Given the description of an element on the screen output the (x, y) to click on. 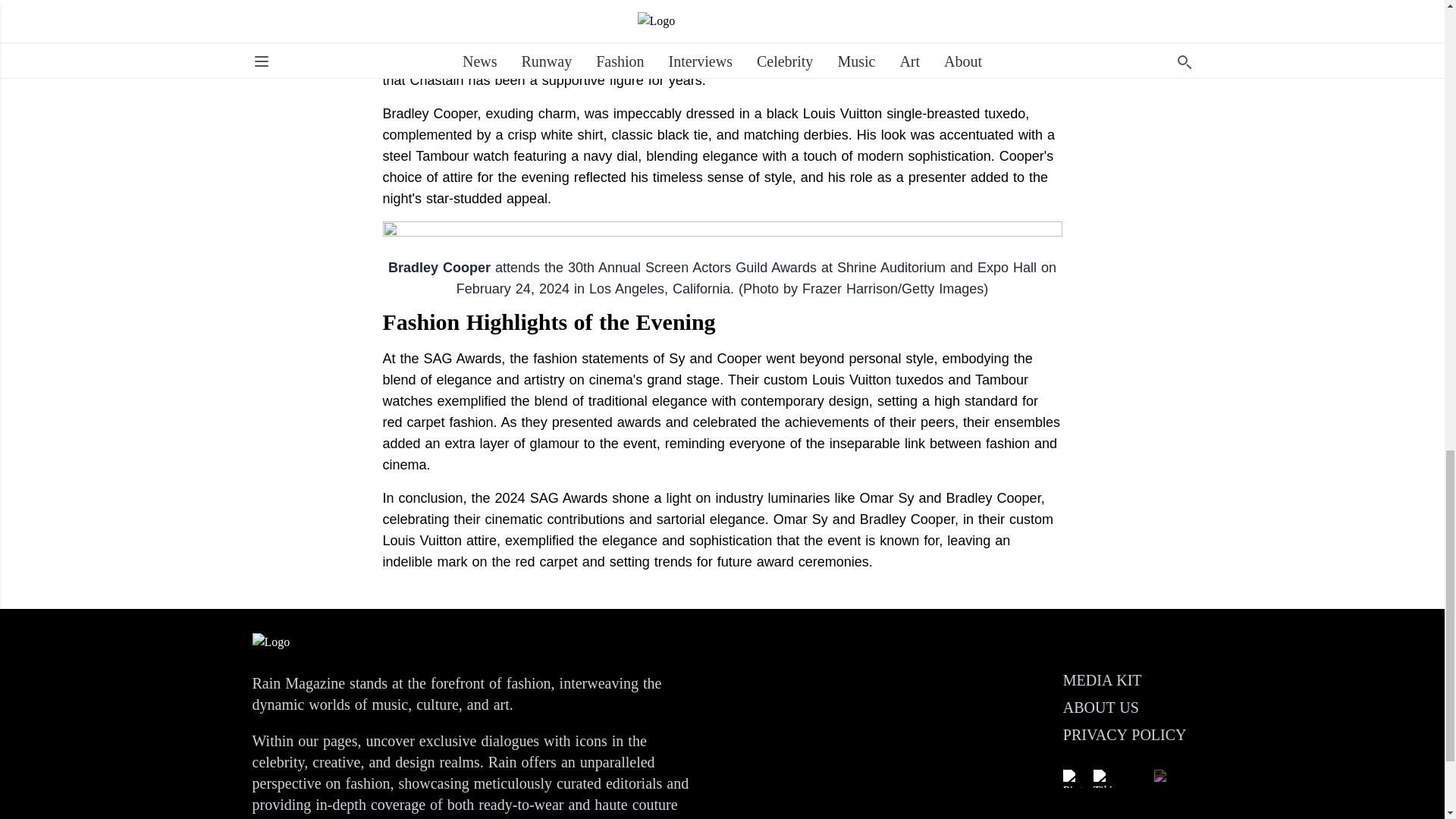
critically acclaimed love story (713, 37)
ABOUT US (1100, 707)
PRIVACY POLICY (1124, 734)
joined Jessica Chastain's interview (692, 58)
MEDIA KIT (1101, 679)
